Given the description of an element on the screen output the (x, y) to click on. 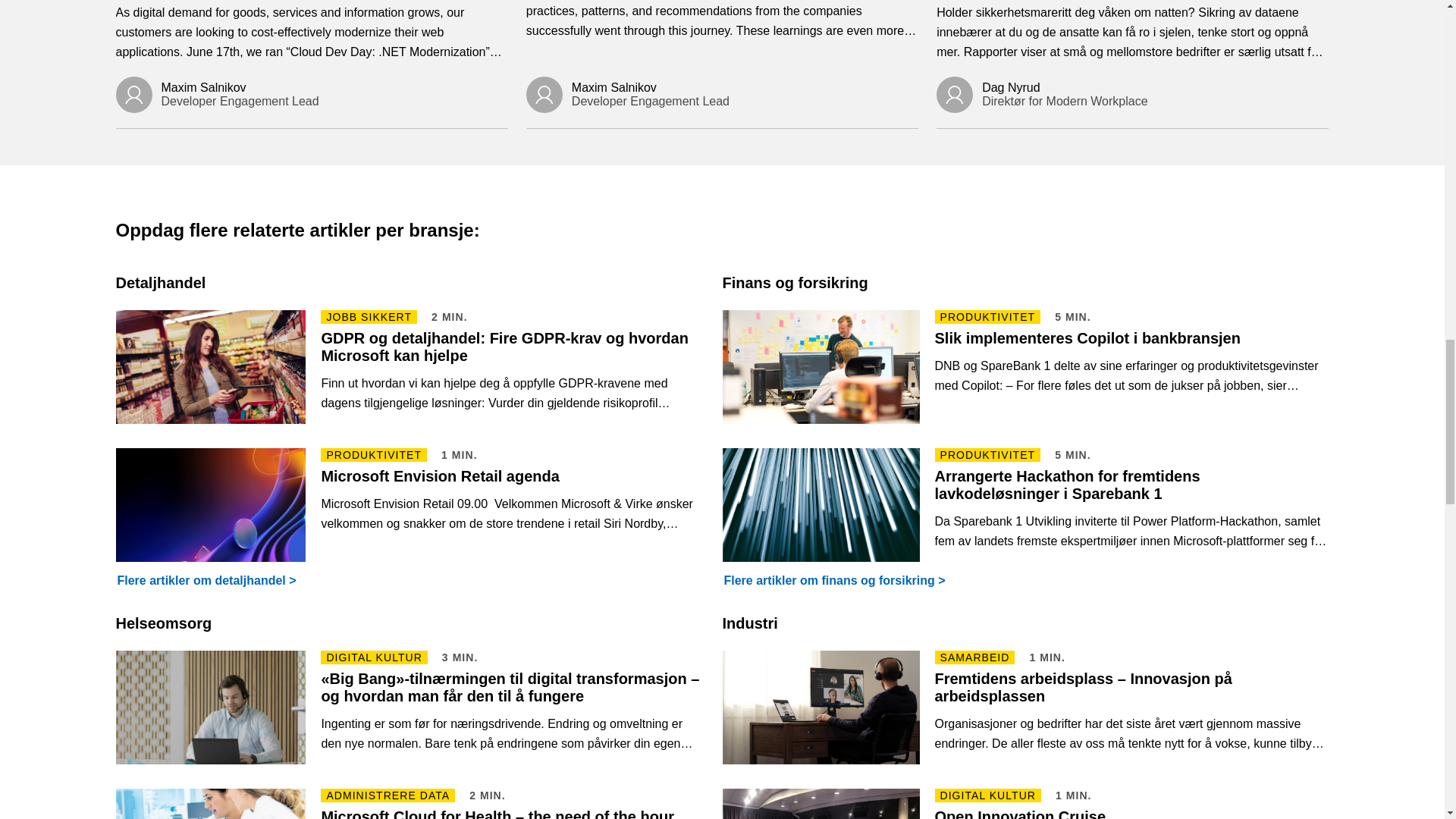
Cloud Migration Stories from Norway (721, 27)
Maxim Salnikov (310, 94)
Maxim Salnikov (721, 94)
Recap of the Cloud Dev Norway: .NET Edition (310, 38)
